Given the description of an element on the screen output the (x, y) to click on. 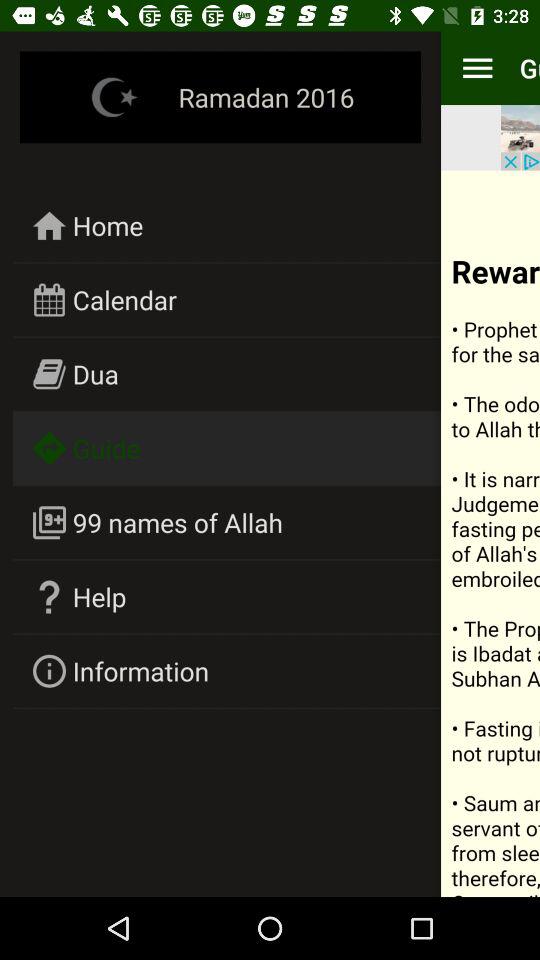
open dua (95, 373)
